Given the description of an element on the screen output the (x, y) to click on. 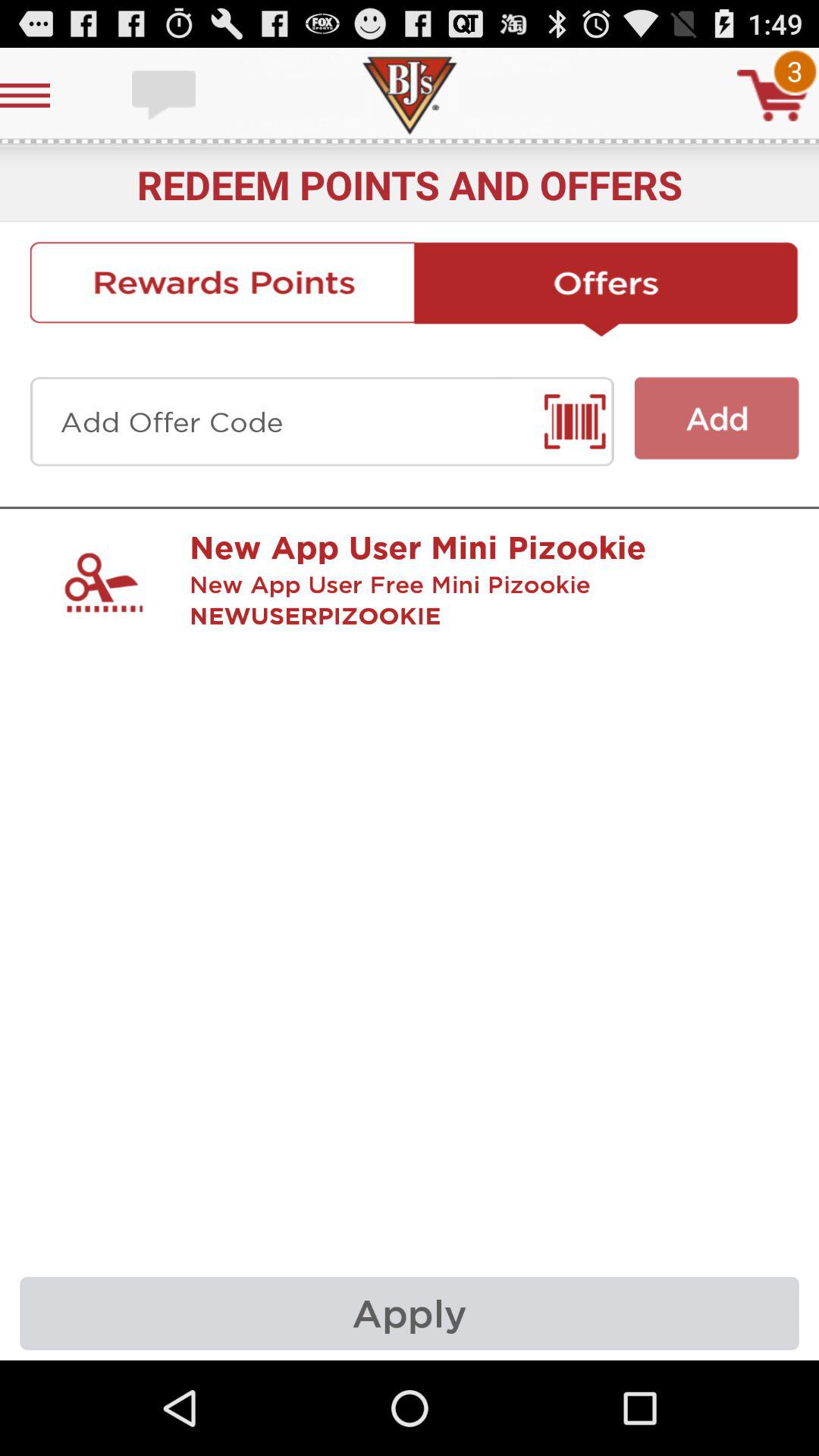
reward tab (222, 289)
